Given the description of an element on the screen output the (x, y) to click on. 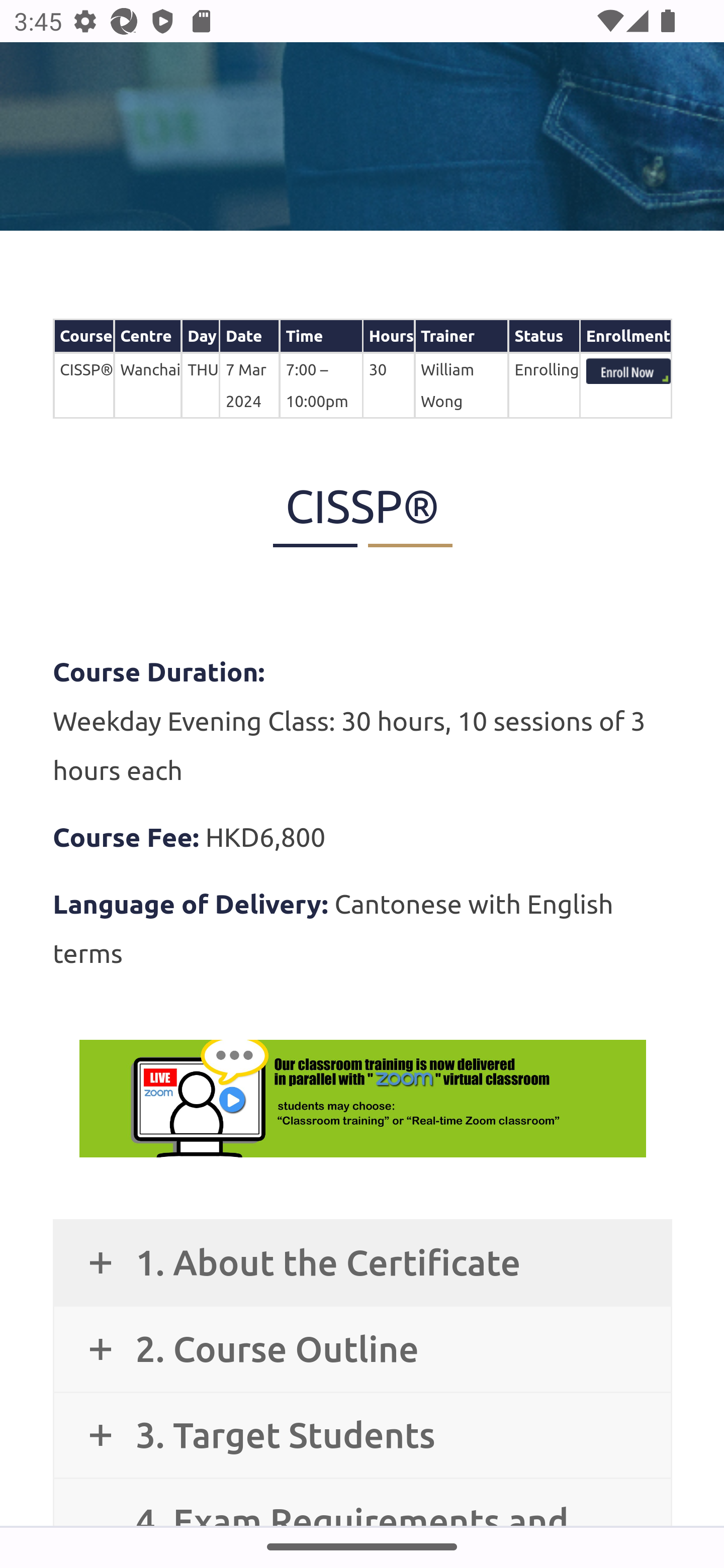
index (627, 373)
